Given the description of an element on the screen output the (x, y) to click on. 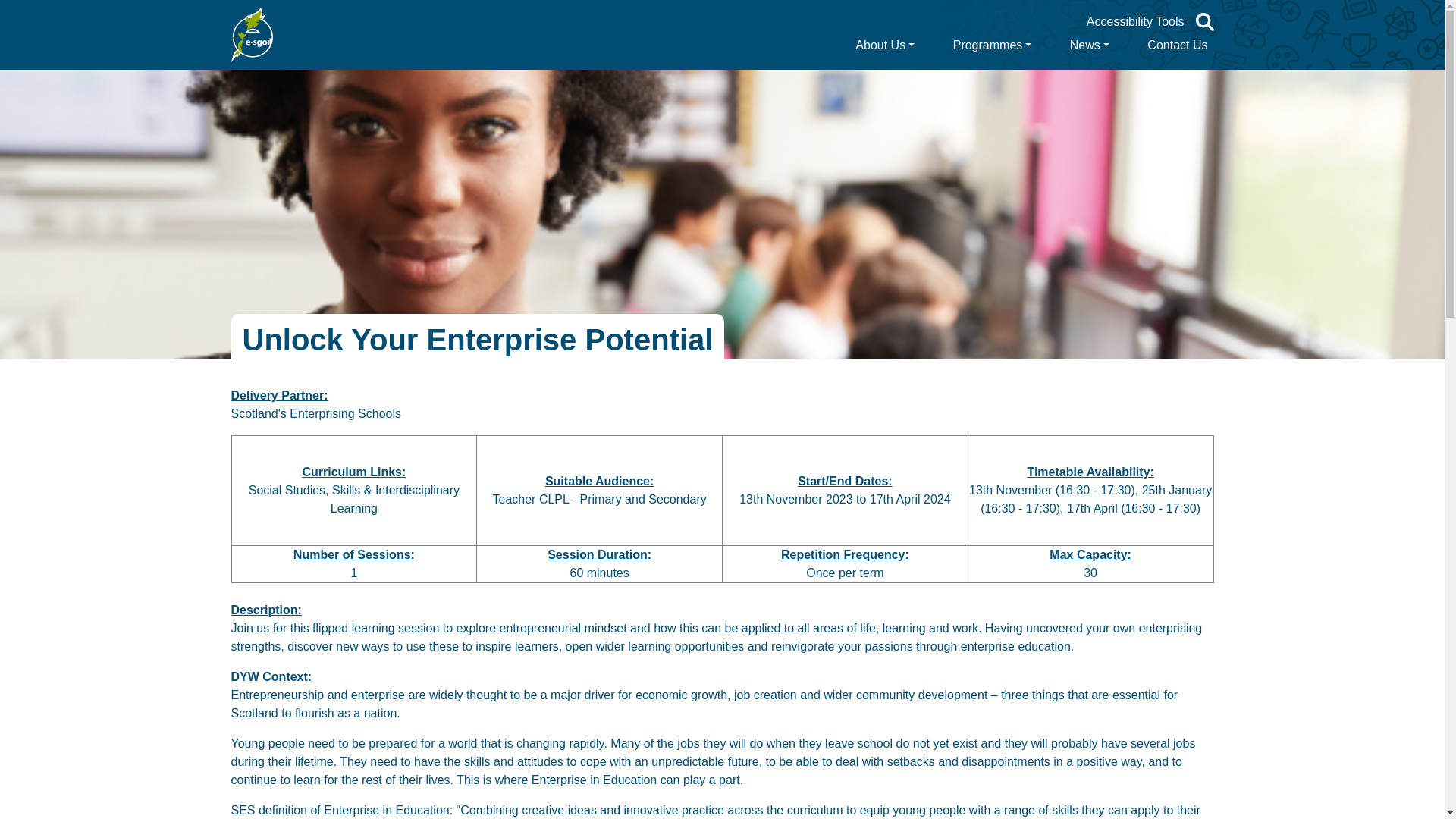
Programmes (992, 44)
About Us (885, 44)
Contact Us (1177, 44)
News (1089, 44)
